Given the description of an element on the screen output the (x, y) to click on. 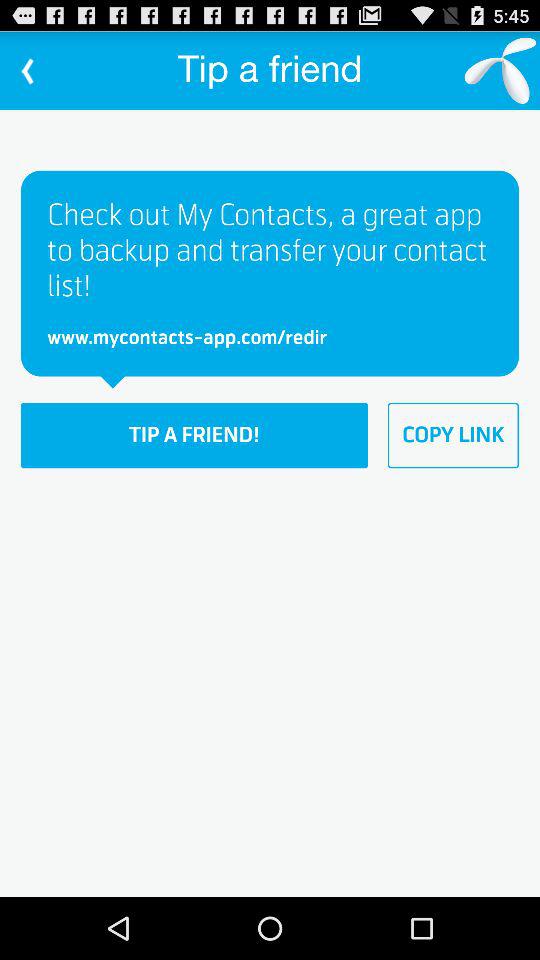
scroll to copy link item (453, 435)
